Given the description of an element on the screen output the (x, y) to click on. 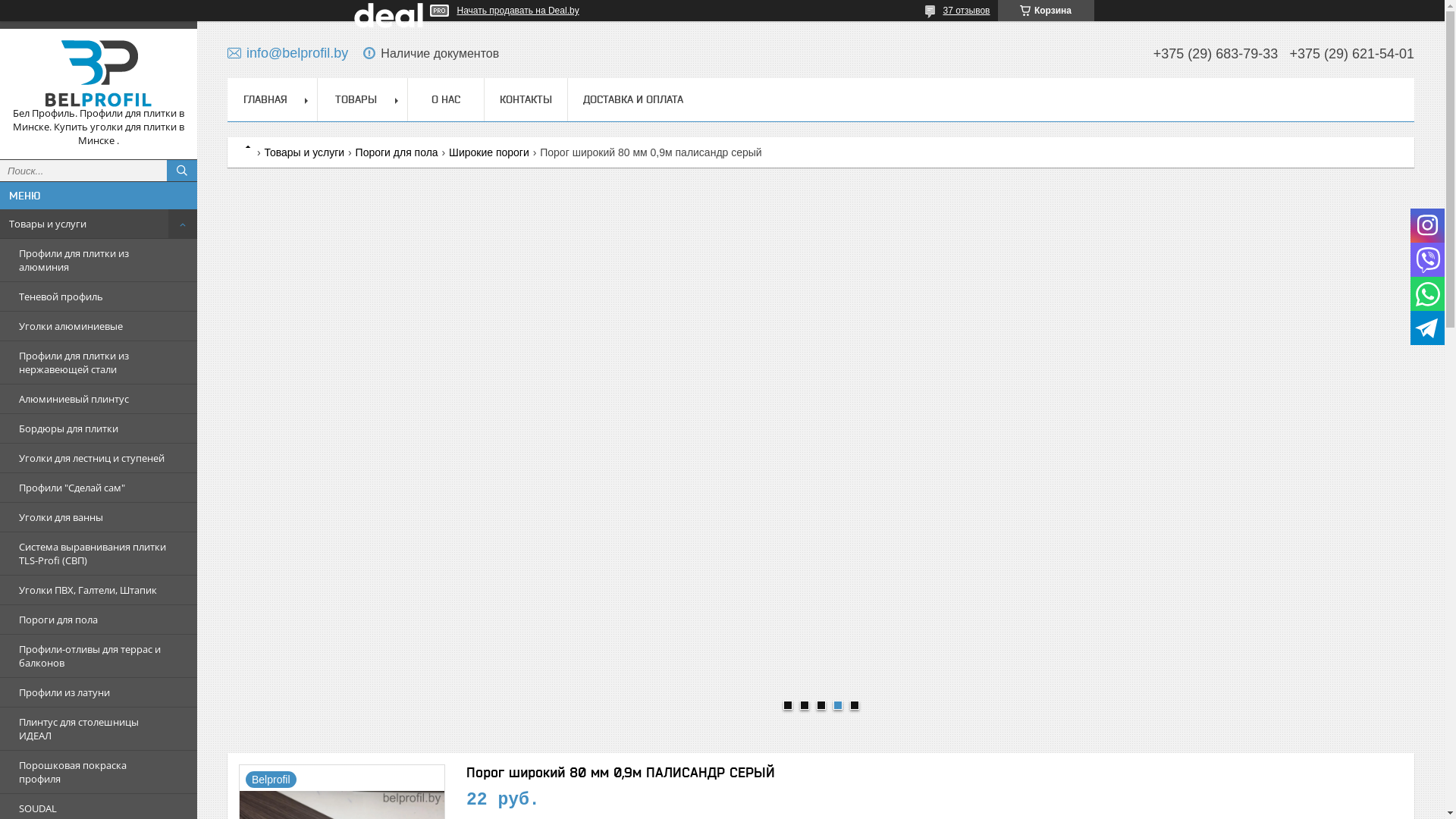
info@belprofil.by Element type: text (287, 52)
